Given the description of an element on the screen output the (x, y) to click on. 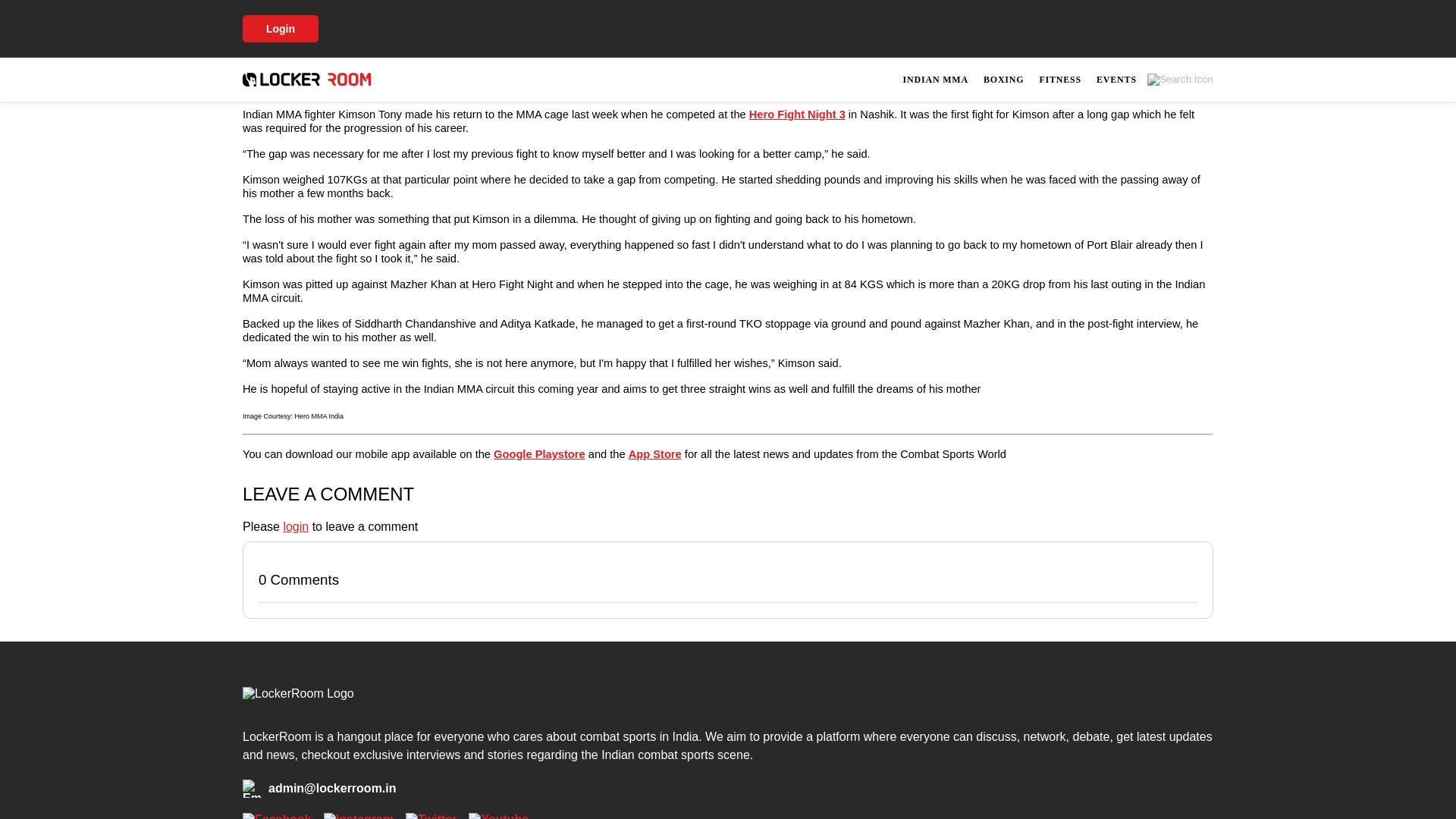
Google Playstore (539, 453)
Hero Fight Night 3 (797, 114)
App Store (654, 453)
